Given the description of an element on the screen output the (x, y) to click on. 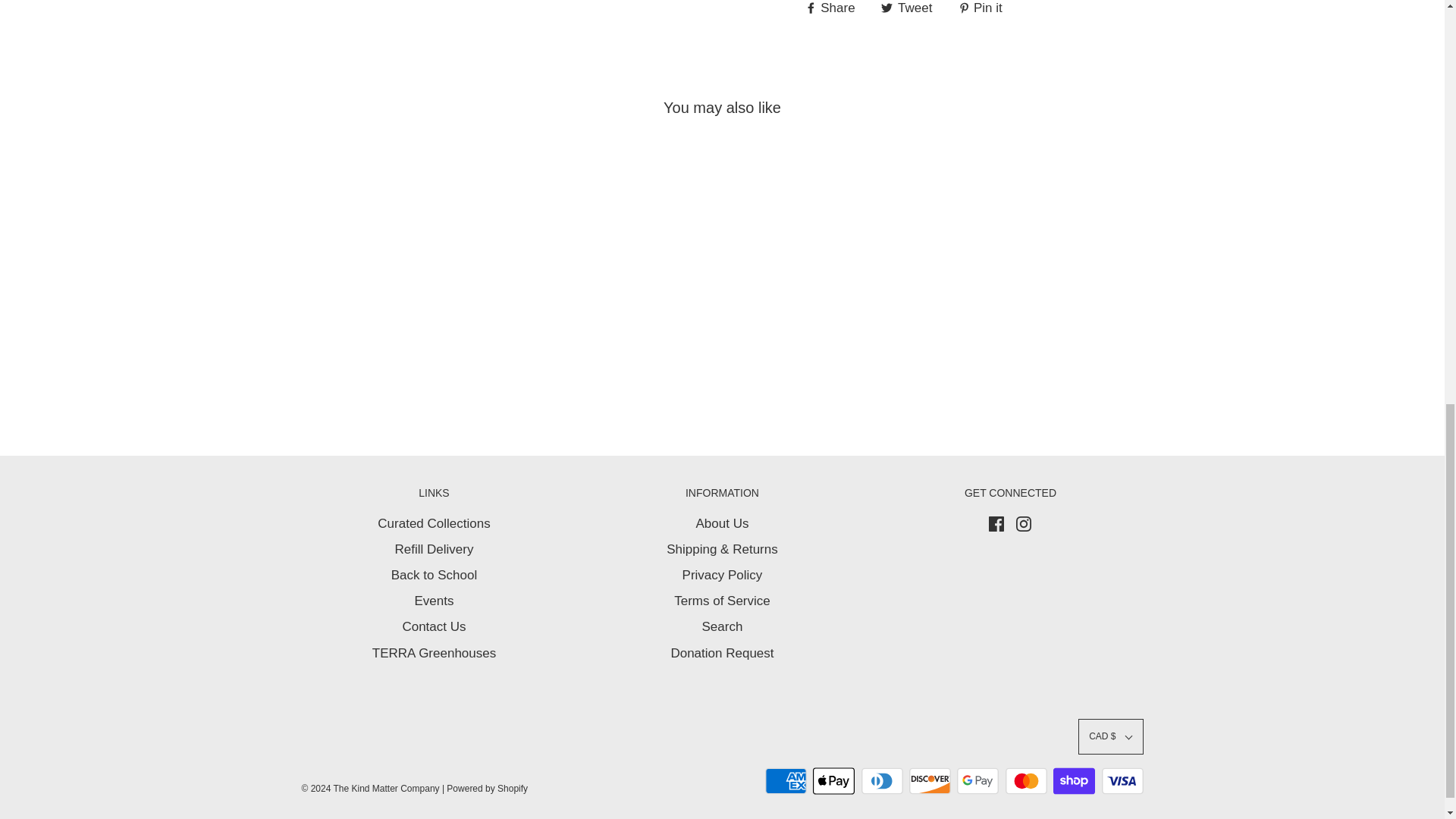
Diners Club (881, 780)
Discover (929, 780)
Instagram icon (1023, 523)
Apple Pay (833, 780)
Mastercard (1026, 780)
American Express (785, 780)
Facebook icon (996, 523)
Google Pay (977, 780)
